Given the description of an element on the screen output the (x, y) to click on. 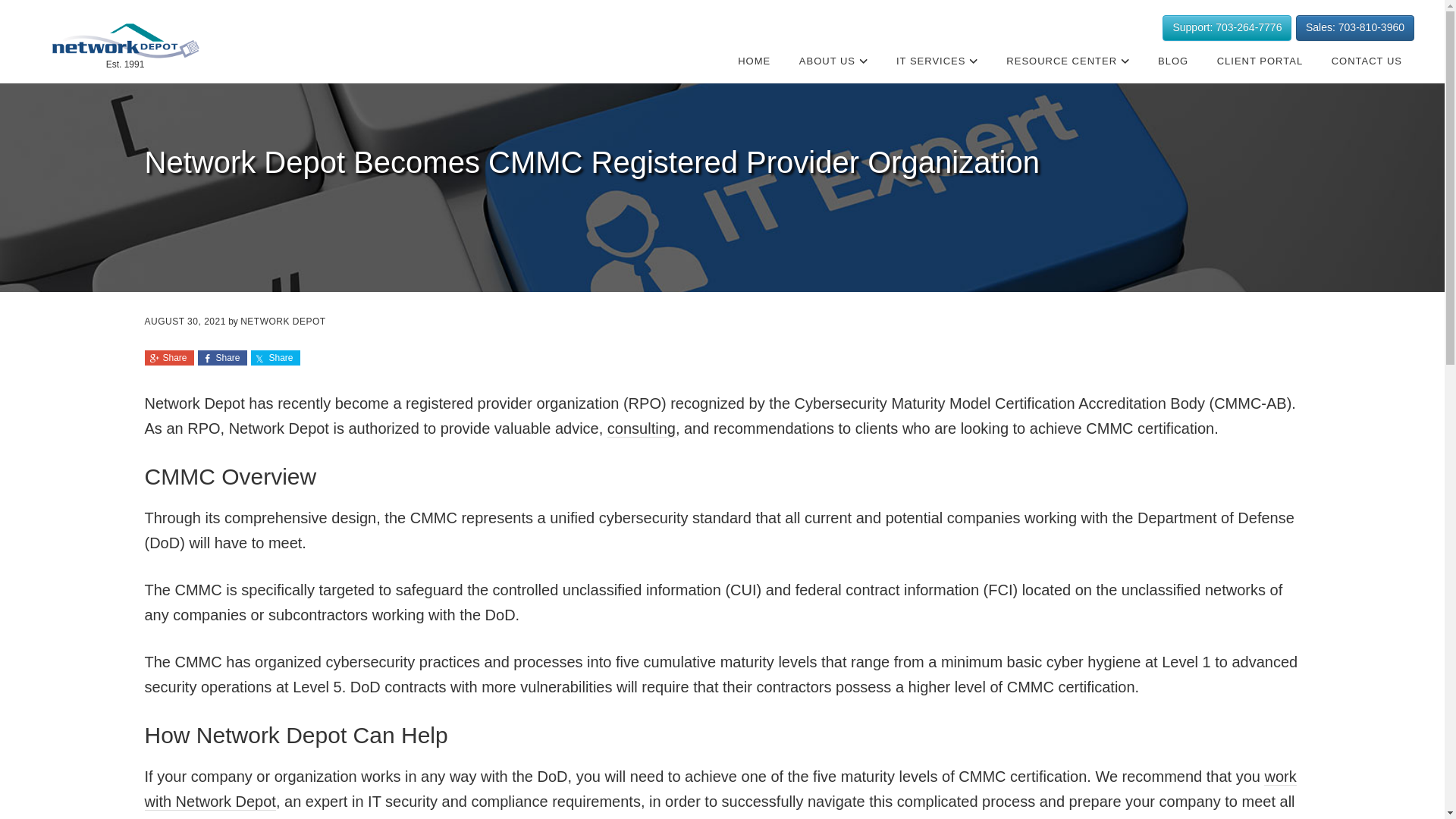
HOME (754, 60)
Support: 703-264-7776 (1226, 27)
ABOUT US (833, 60)
NETWORK DEPOT (124, 40)
Sales: 703-810-3960 (1354, 27)
